Given the description of an element on the screen output the (x, y) to click on. 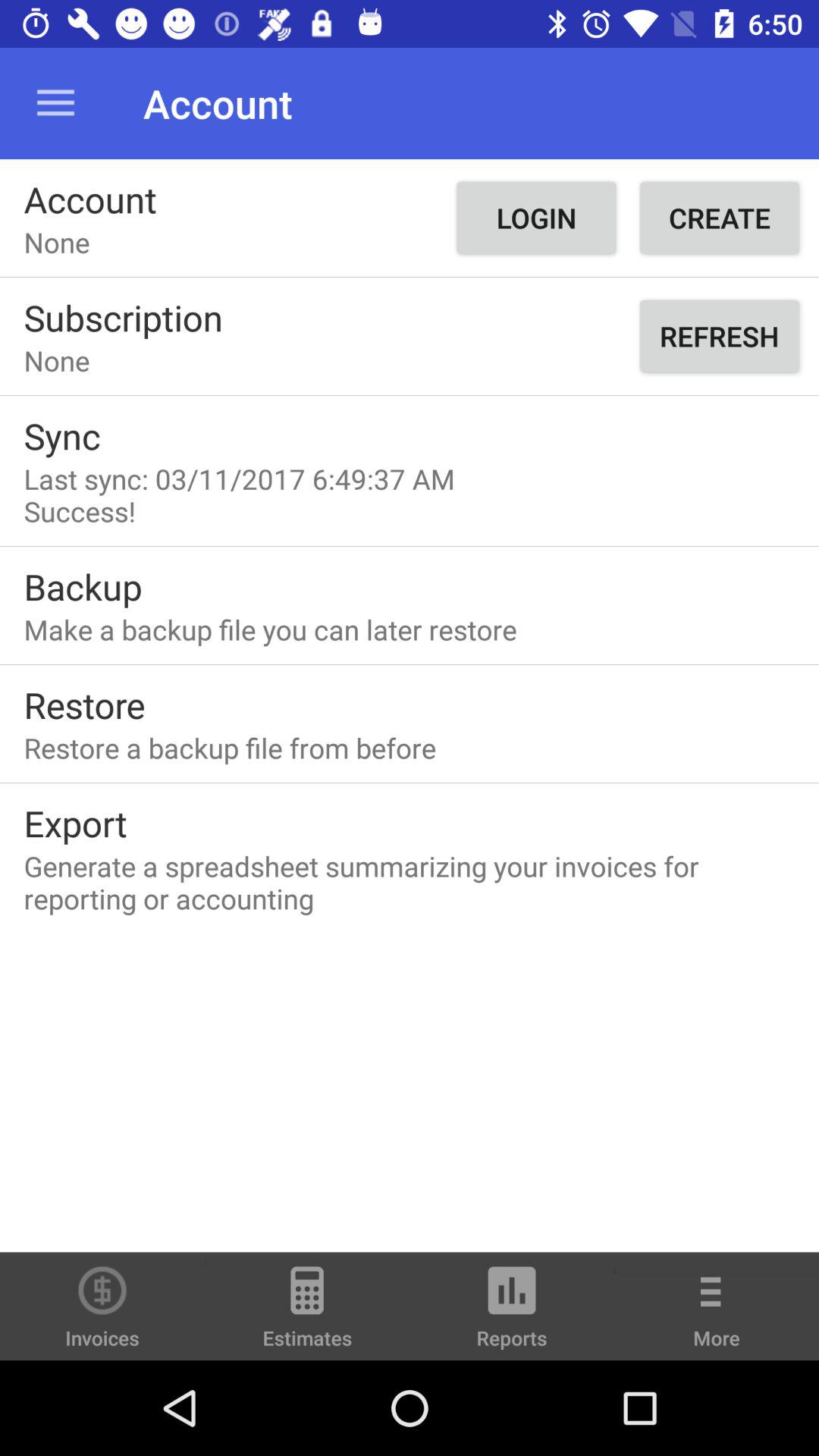
tap the icon to the left of the reports icon (306, 1313)
